Given the description of an element on the screen output the (x, y) to click on. 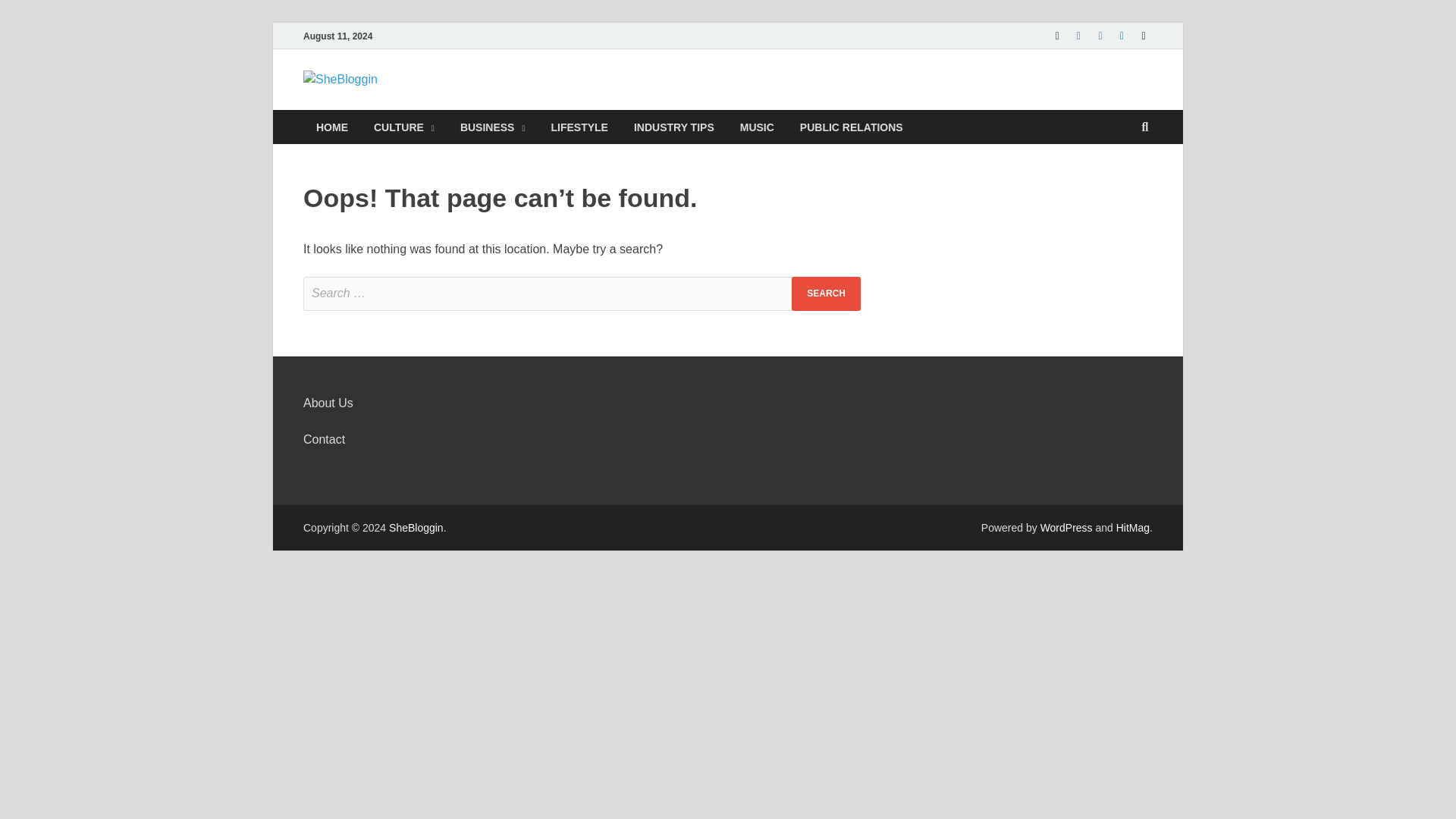
SheBloggin (464, 100)
HOME (331, 126)
Search (826, 293)
Search (826, 293)
CULTURE (403, 126)
LIFESTYLE (578, 126)
MUSIC (756, 126)
Contact (323, 439)
BUSINESS (492, 126)
Lotti Creatives (851, 126)
